Given the description of an element on the screen output the (x, y) to click on. 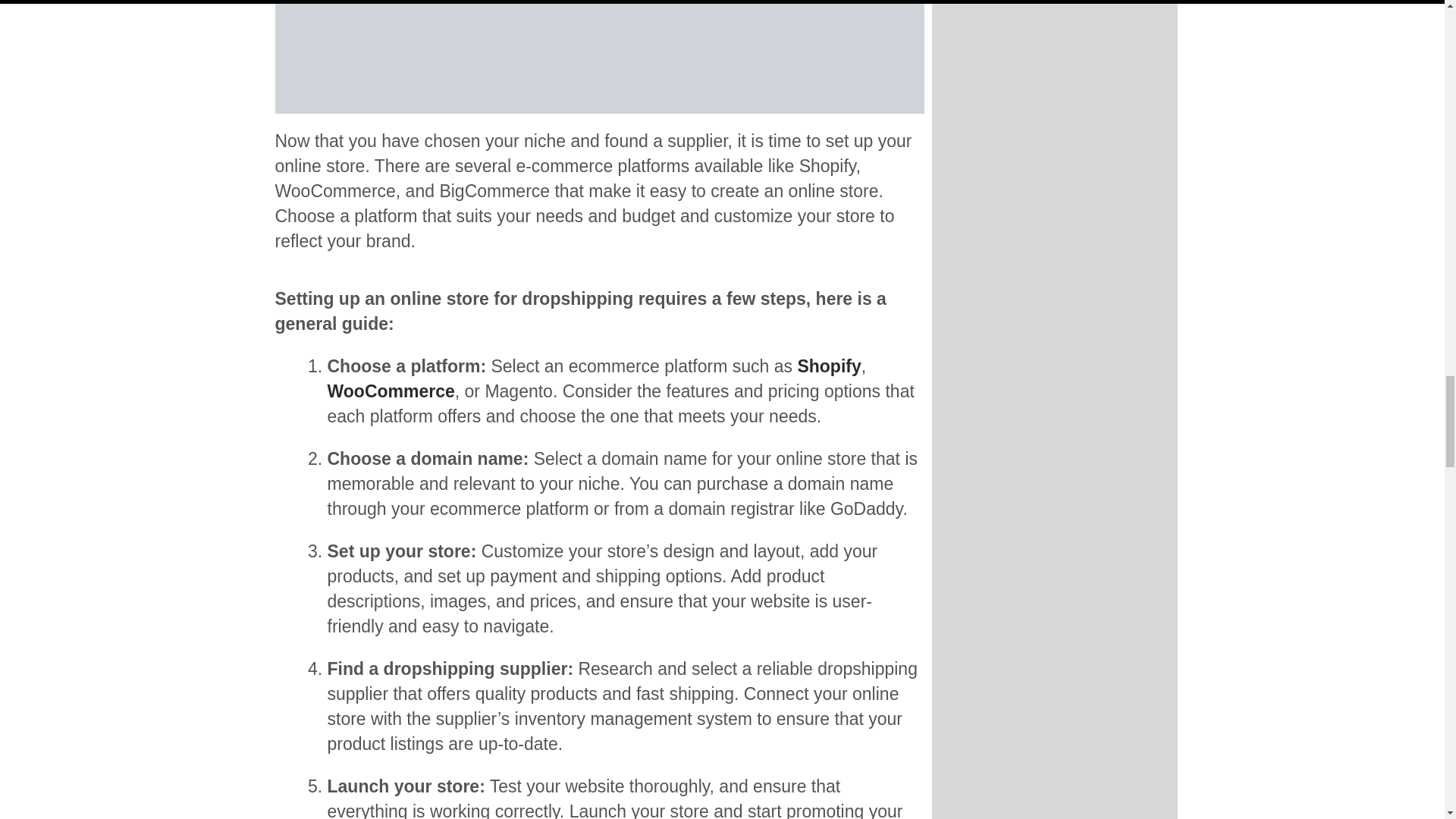
WooCommerce (390, 391)
Shopify (828, 365)
